Given the description of an element on the screen output the (x, y) to click on. 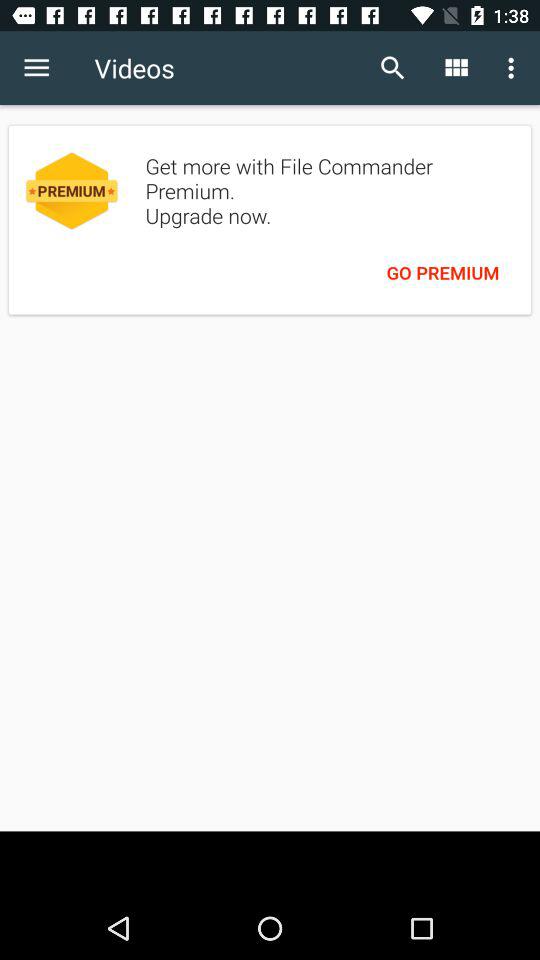
launch icon above the get more with (392, 67)
